Given the description of an element on the screen output the (x, y) to click on. 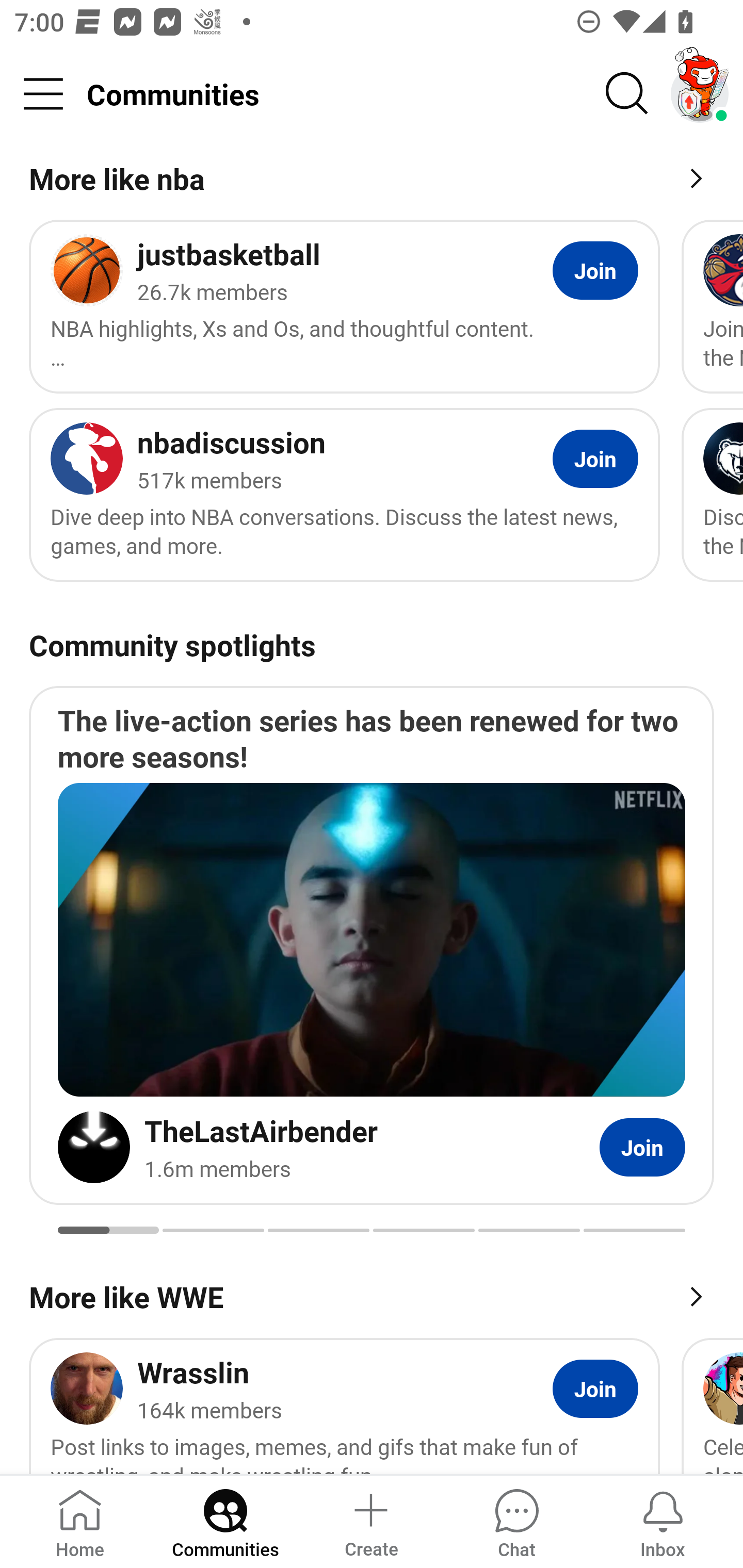
Community menu (43, 93)
Search (626, 93)
TestAppium002 account (699, 93)
More like nba View more (371, 181)
More like WWE View more (371, 1294)
Home (80, 1520)
Communities (225, 1520)
Create a post Create (370, 1520)
Chat (516, 1520)
Inbox (662, 1520)
